Given the description of an element on the screen output the (x, y) to click on. 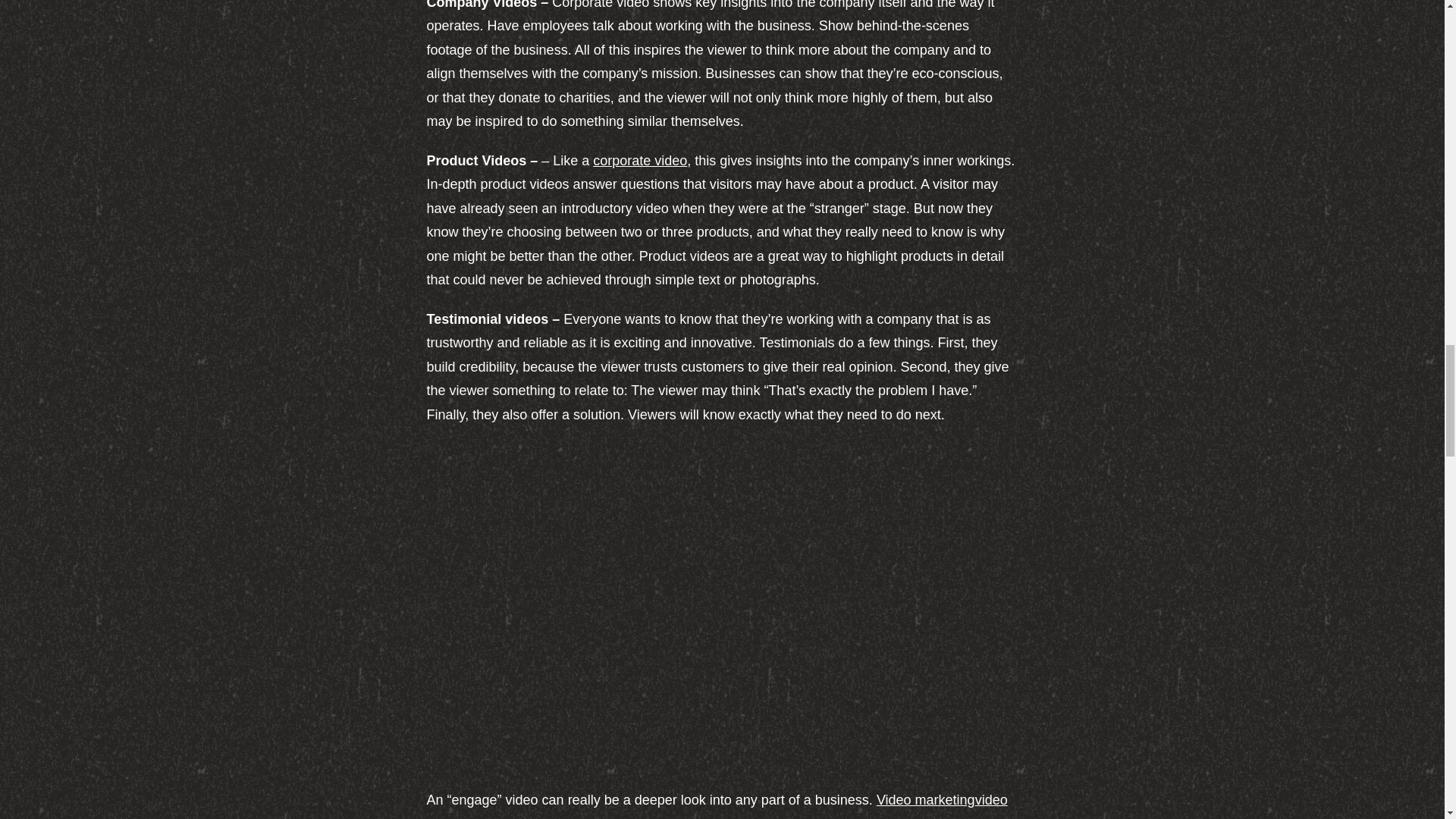
corporate video (639, 160)
video marketing (716, 805)
Video marketing (925, 799)
